Given the description of an element on the screen output the (x, y) to click on. 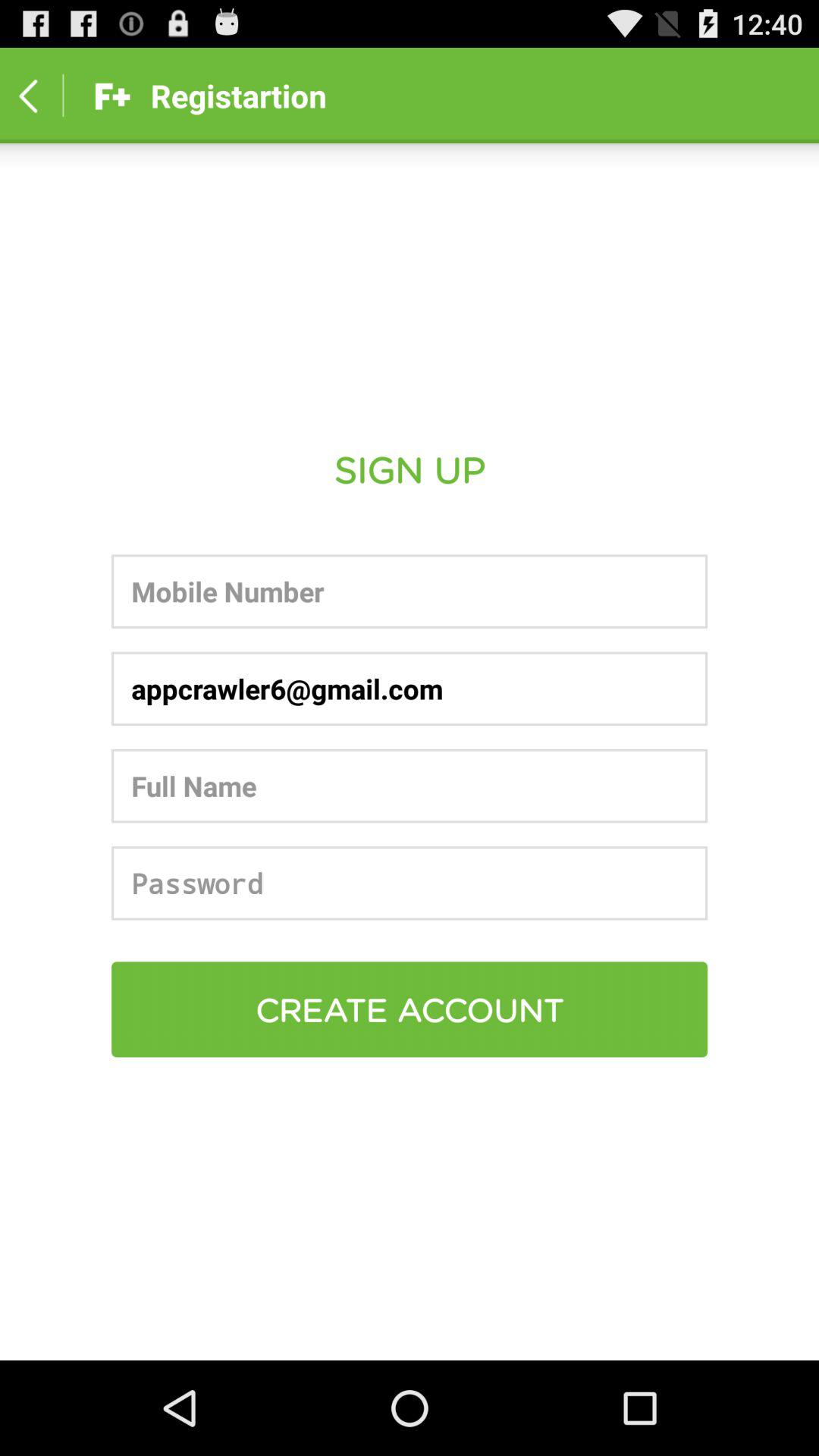
enter mobile number (409, 591)
